Given the description of an element on the screen output the (x, y) to click on. 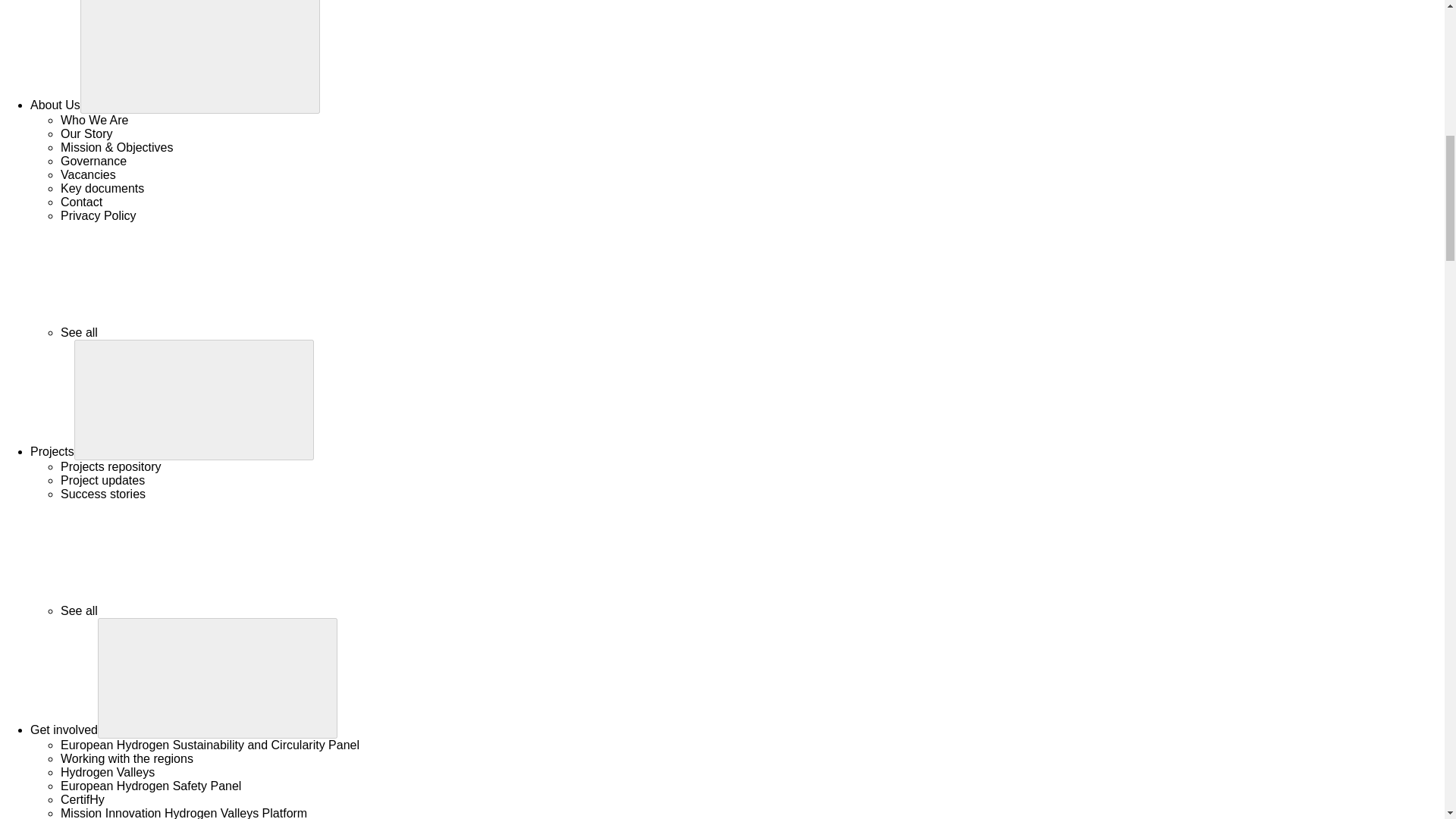
Get involved (63, 729)
Who We Are (95, 119)
Mission Innovation Hydrogen Valleys Platform (184, 812)
Governance (93, 160)
European Hydrogen Sustainability and Circularity Panel (210, 744)
Projects (52, 451)
Hydrogen Valleys (107, 771)
Projects repository (111, 466)
Privacy Policy (98, 215)
Contact (81, 201)
Success stories (103, 493)
See all (192, 332)
CertifHy (82, 799)
Vacancies (88, 174)
About Us (55, 104)
